Given the description of an element on the screen output the (x, y) to click on. 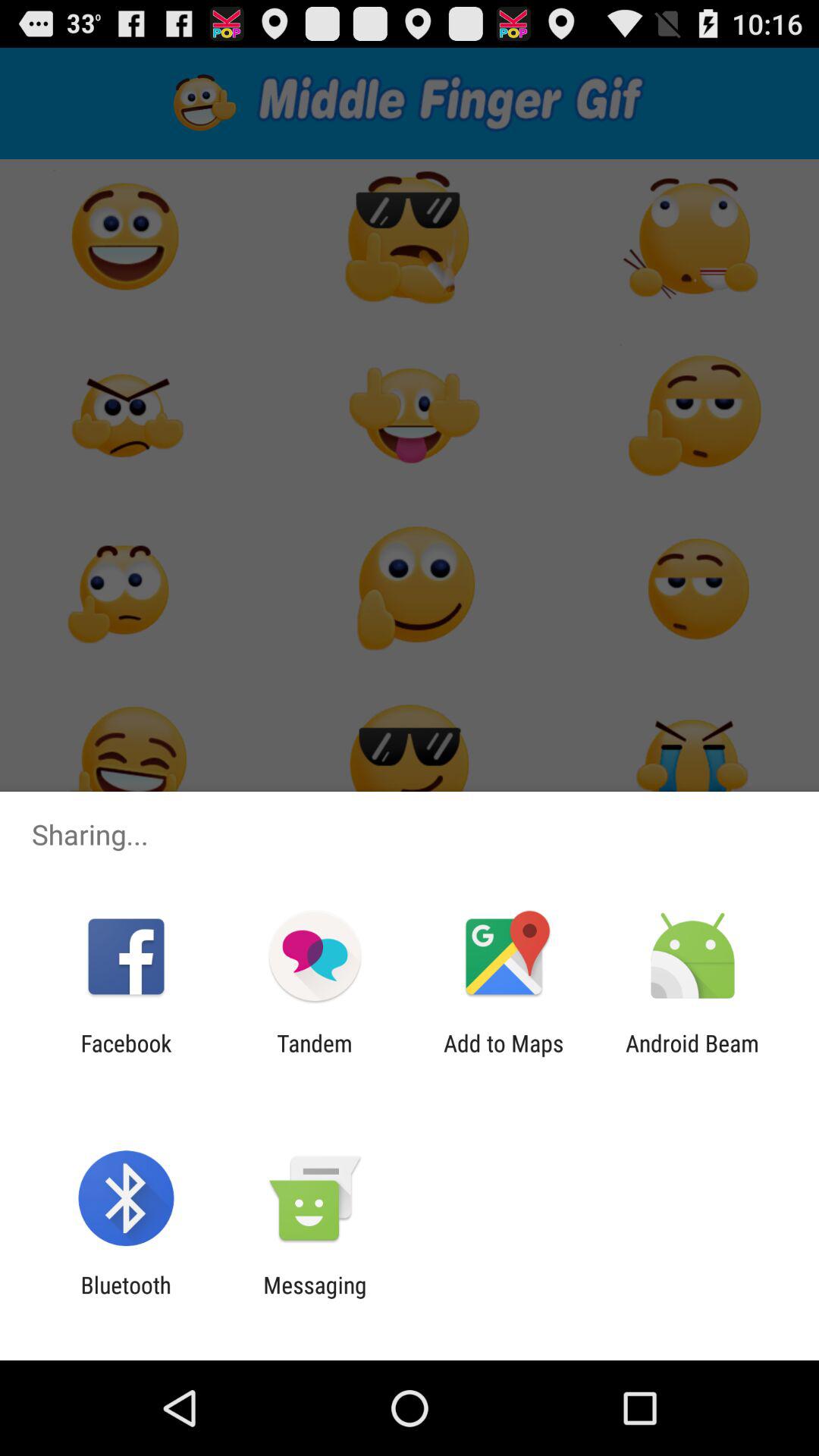
click the app to the right of the add to maps item (692, 1056)
